Given the description of an element on the screen output the (x, y) to click on. 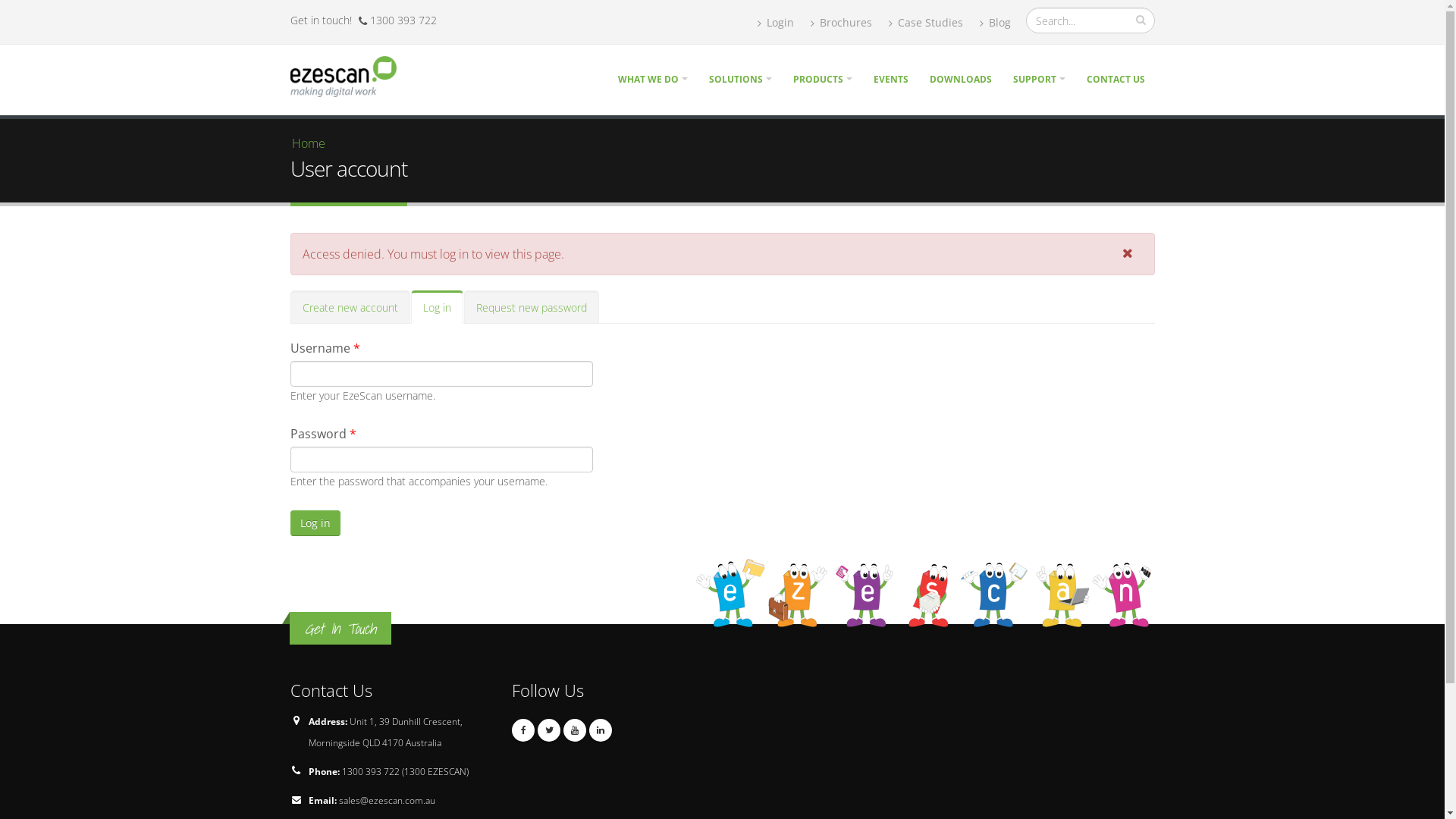
Home Element type: hover (348, 74)
Linkedin Element type: hover (600, 729)
Login Element type: text (774, 22)
SUPPORT Element type: text (1038, 78)
CONTACT US Element type: text (1115, 78)
Brochures Element type: text (840, 22)
Home Element type: text (307, 142)
Case Studies Element type: text (925, 22)
Create new account Element type: text (349, 306)
Blog Element type: text (995, 22)
PRODUCTS Element type: text (821, 78)
sales@ezescan.com.au Element type: text (386, 799)
DOWNLOADS Element type: text (960, 78)
Log in
(active tab) Element type: text (437, 306)
EVENTS Element type: text (889, 78)
WHAT WE DO Element type: text (652, 78)
Enter the terms you wish to search for. Element type: hover (1089, 20)
SOLUTIONS Element type: text (740, 78)
Log in Element type: text (314, 523)
Youtube Element type: hover (574, 729)
Request new password Element type: text (531, 306)
Twitter Element type: hover (548, 729)
Facebook Element type: hover (522, 729)
